Given the description of an element on the screen output the (x, y) to click on. 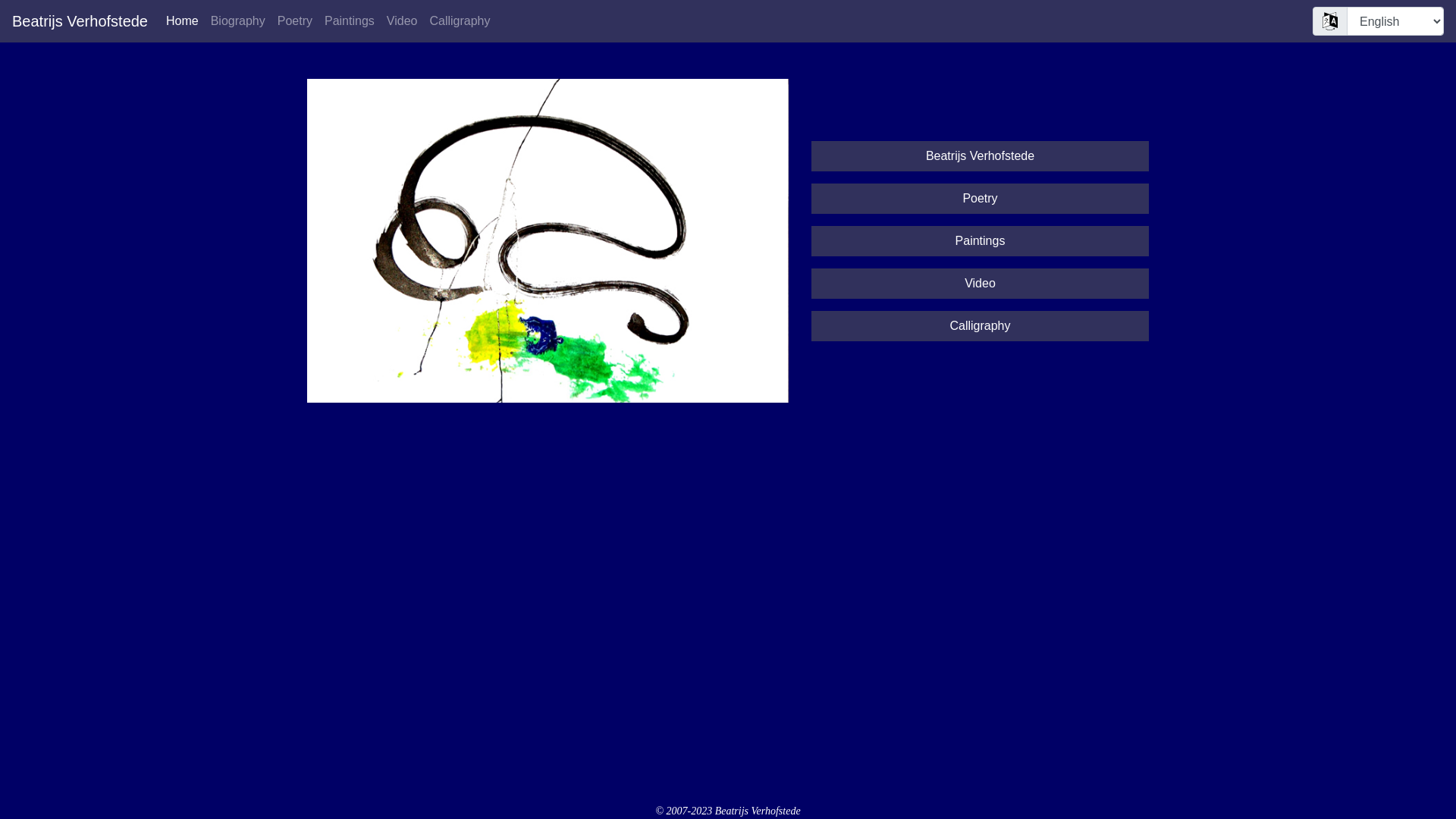
Paintings Element type: text (980, 240)
Video Element type: text (979, 282)
Beatrijs Verhofstede Element type: text (79, 21)
Beatrijs Verhofstede Element type: text (979, 155)
Poetry Element type: text (979, 197)
Home Element type: text (182, 21)
Paintings Element type: text (349, 21)
Calligraphy Element type: text (979, 325)
Video Element type: text (401, 21)
Calligraphy Element type: text (459, 21)
Language Element type: hover (1329, 20)
Poetry Element type: text (294, 21)
Biography Element type: text (237, 21)
